Given the description of an element on the screen output the (x, y) to click on. 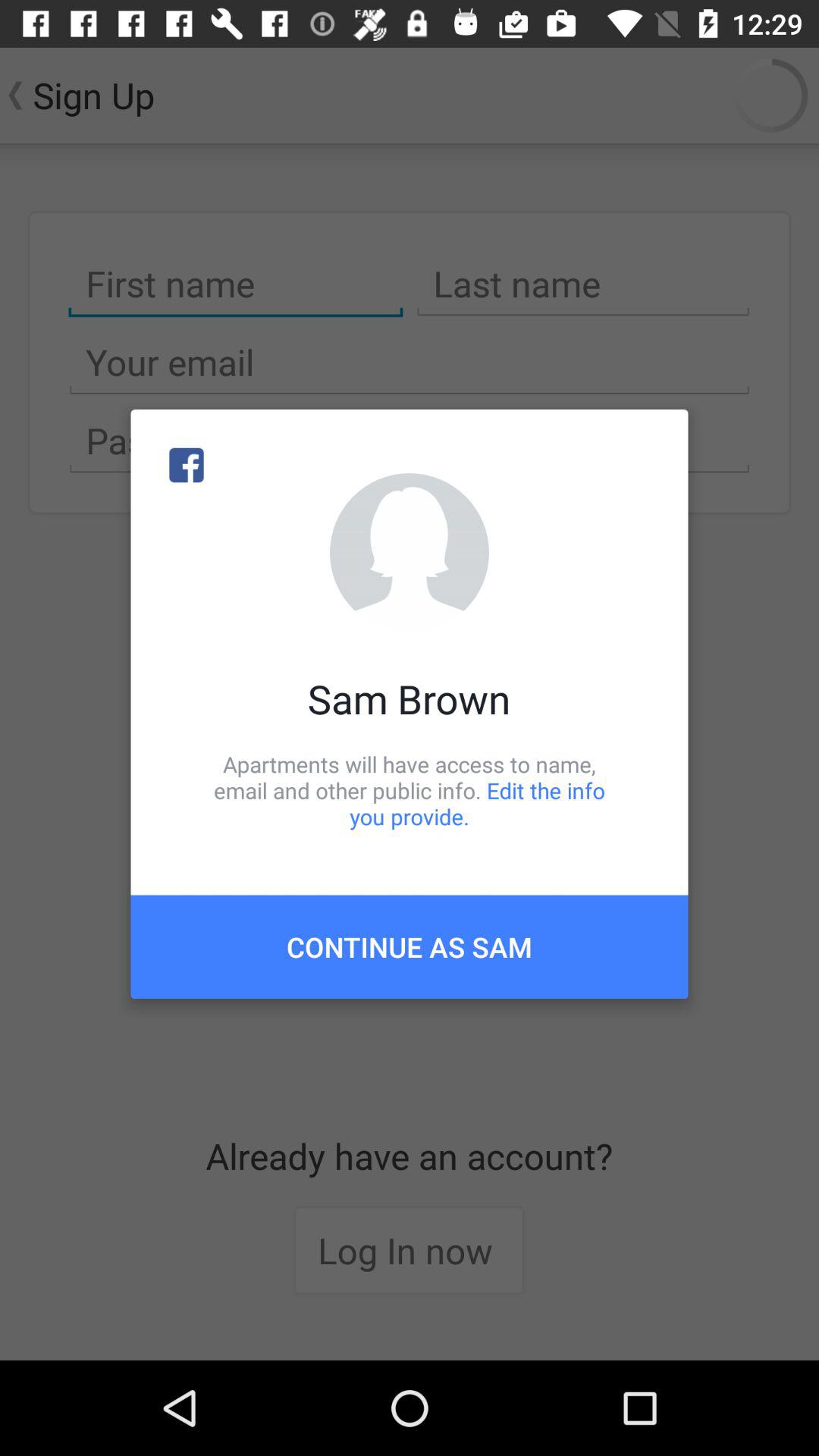
select the icon above the continue as sam icon (409, 790)
